Given the description of an element on the screen output the (x, y) to click on. 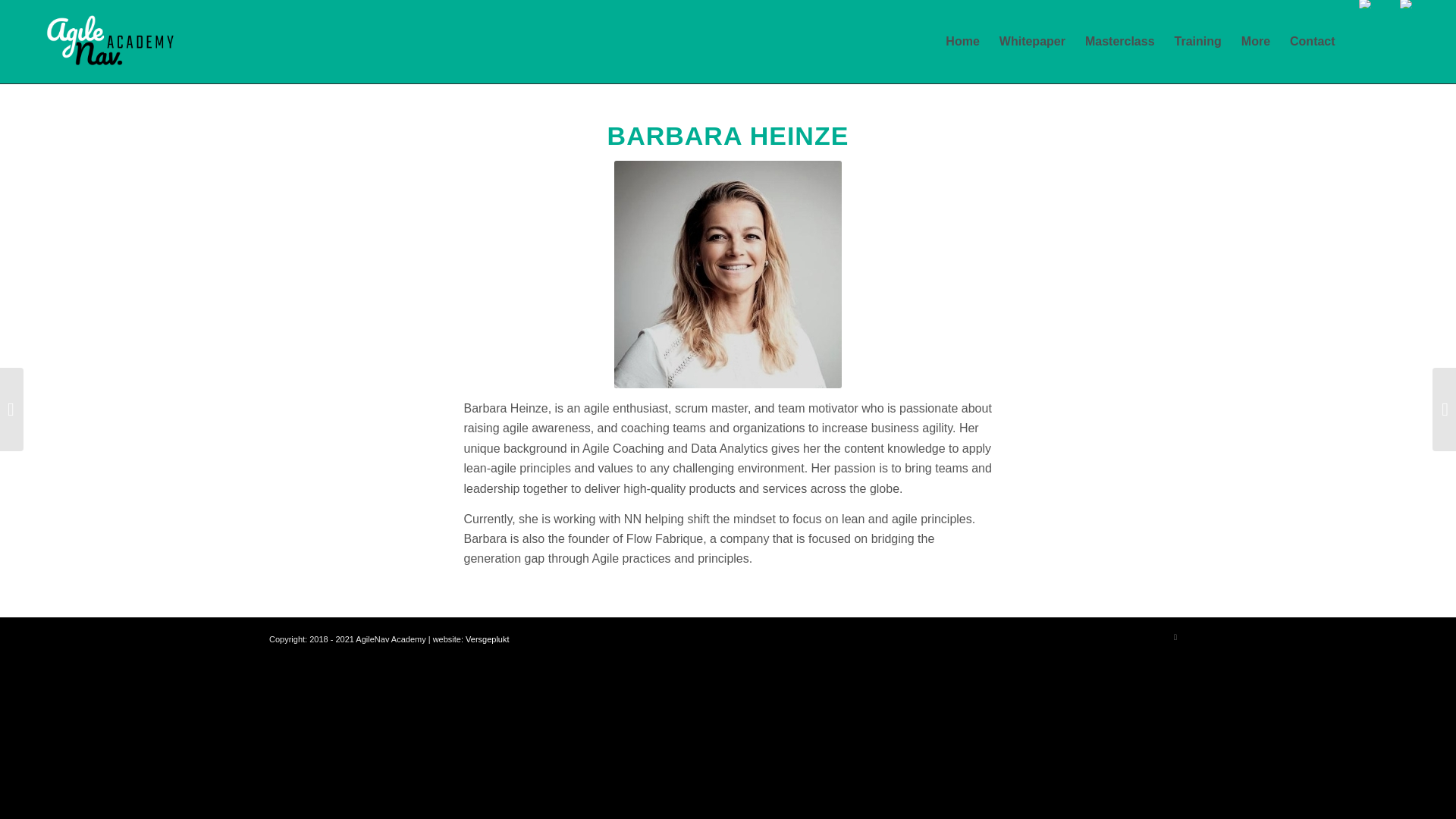
Versgeplukt (486, 638)
Reclamebureau Haarlem (486, 638)
Dutch (1406, 4)
LinkedIn (1174, 636)
bar-linkedin (727, 274)
Masterclass (1119, 41)
Whitepaper (1032, 41)
English (1365, 4)
